Given the description of an element on the screen output the (x, y) to click on. 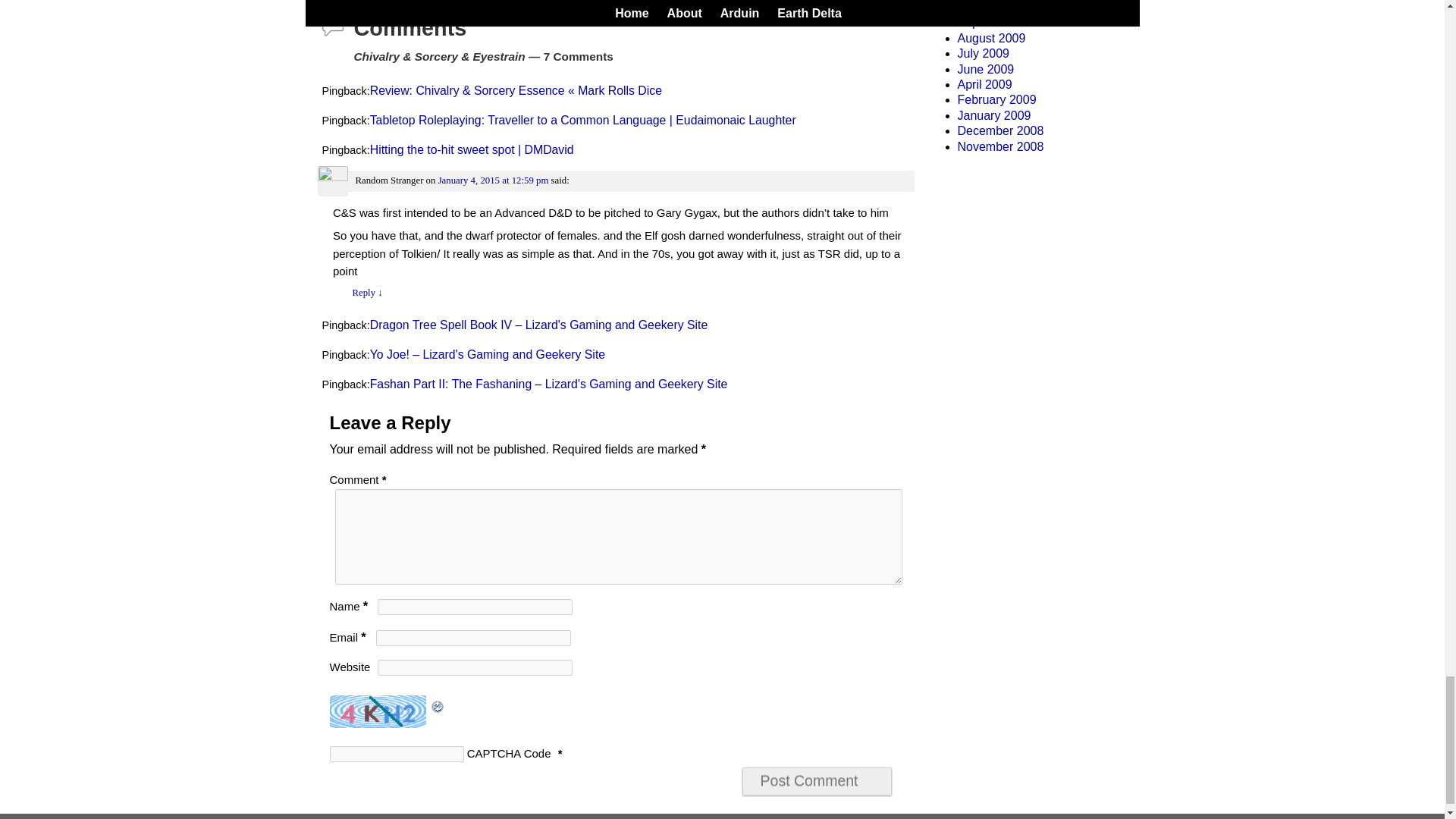
Post Comment (816, 781)
